Given the description of an element on the screen output the (x, y) to click on. 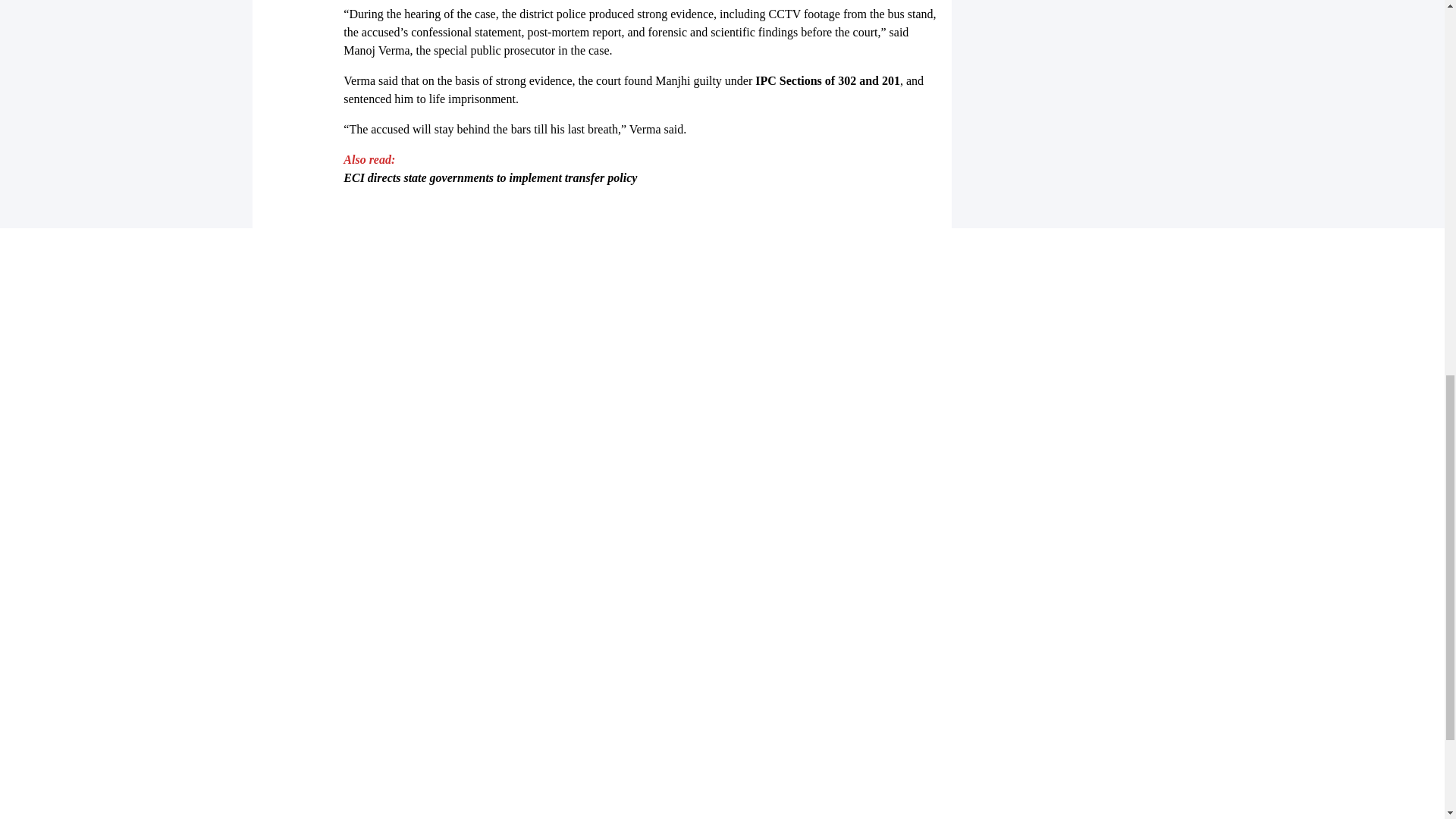
Eastern Mirror (721, 477)
